Given the description of an element on the screen output the (x, y) to click on. 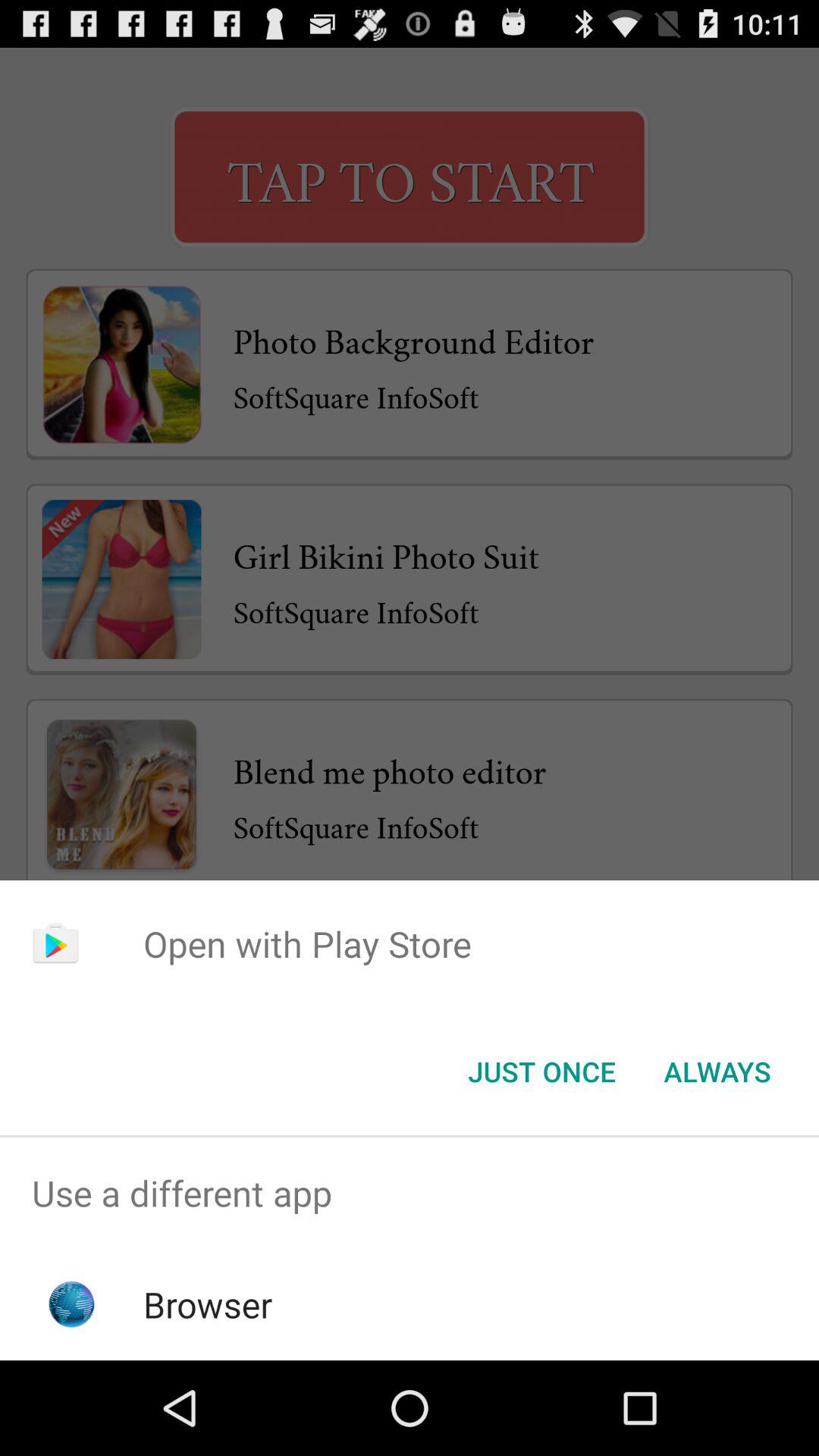
choose app below open with play app (717, 1071)
